Given the description of an element on the screen output the (x, y) to click on. 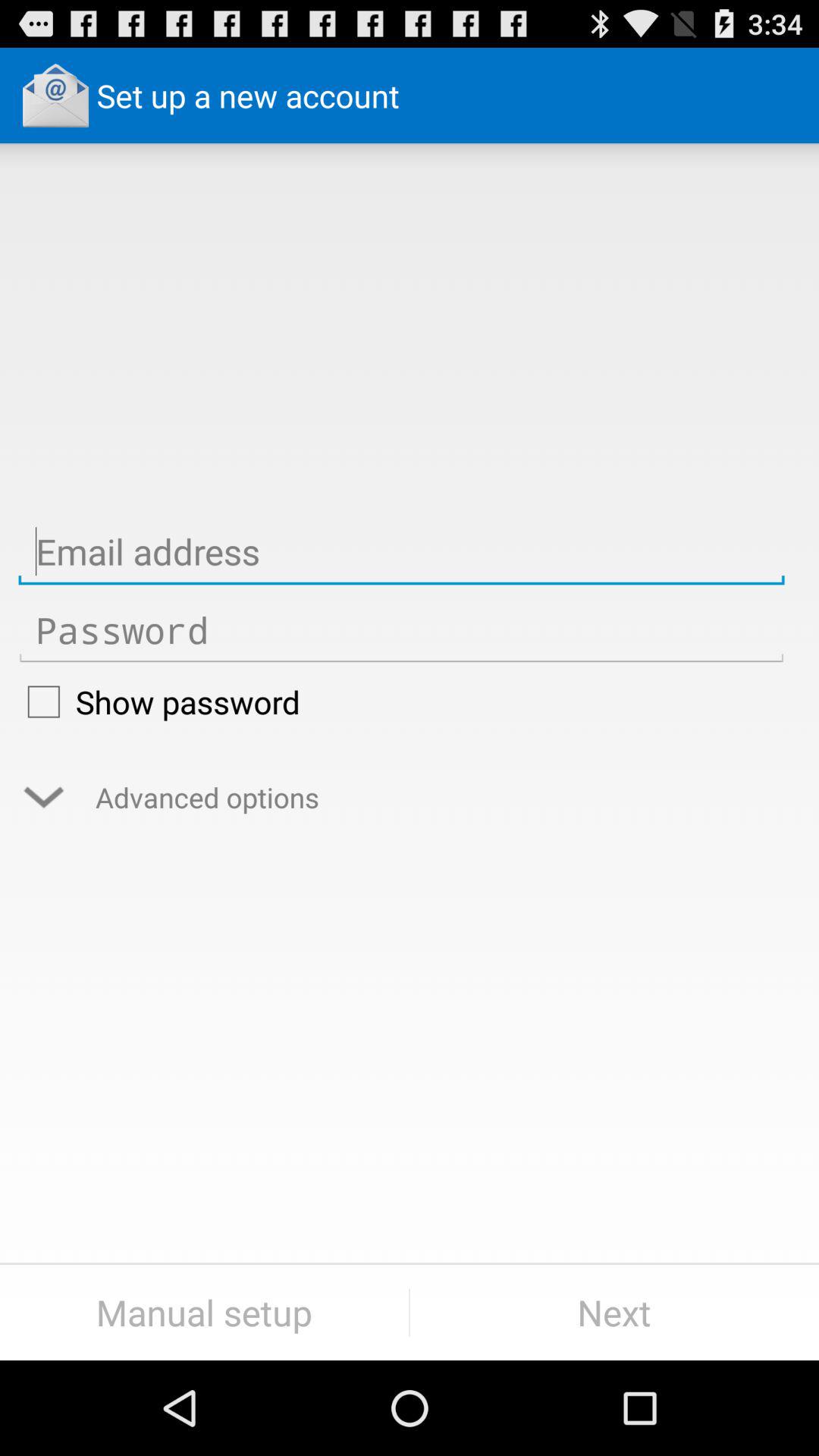
scroll until manual setup (204, 1312)
